Given the description of an element on the screen output the (x, y) to click on. 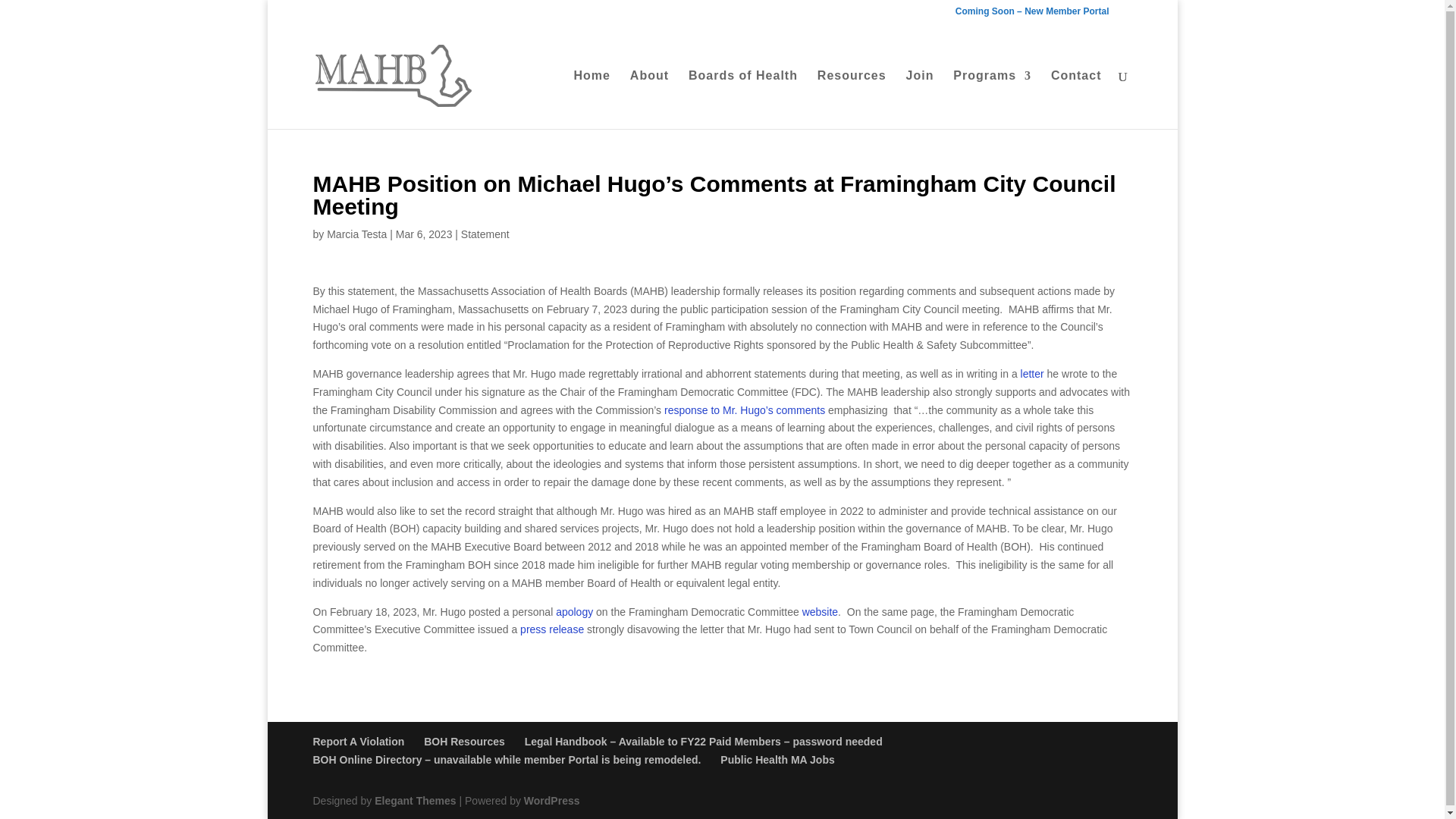
Posts by Marcia Testa (356, 234)
Report A Violation (358, 741)
BOH Resources (464, 741)
Premium WordPress Themes (414, 800)
Marcia Testa (356, 234)
press release (551, 629)
Programs (991, 99)
Resources (851, 99)
letter (1031, 373)
Statement (485, 234)
Boards of Health (742, 99)
apology (575, 612)
website (820, 612)
